Given the description of an element on the screen output the (x, y) to click on. 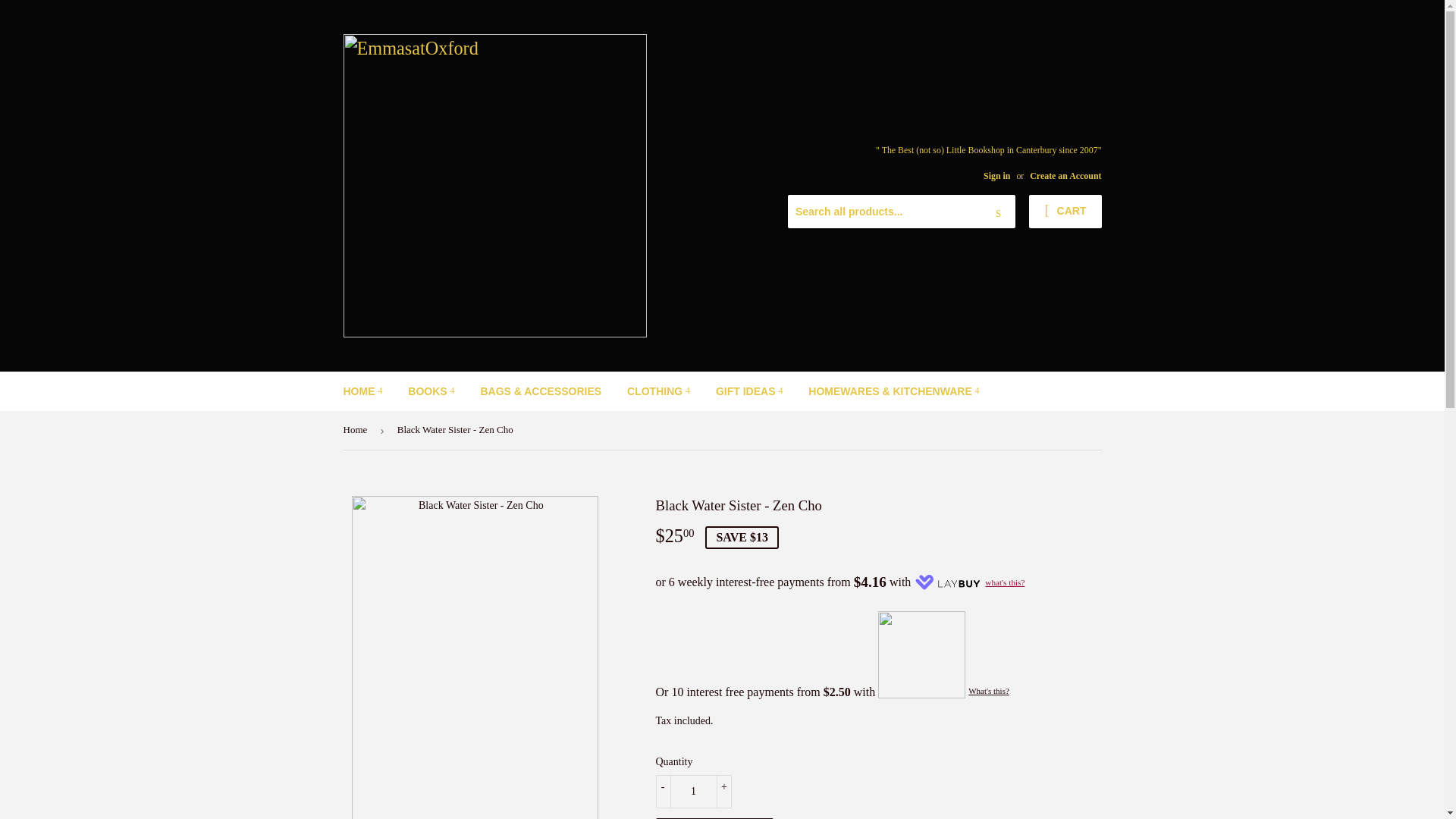
1 (692, 791)
Create an Account (1064, 175)
Sign in (997, 175)
CART (1064, 211)
Search (997, 212)
